Given the description of an element on the screen output the (x, y) to click on. 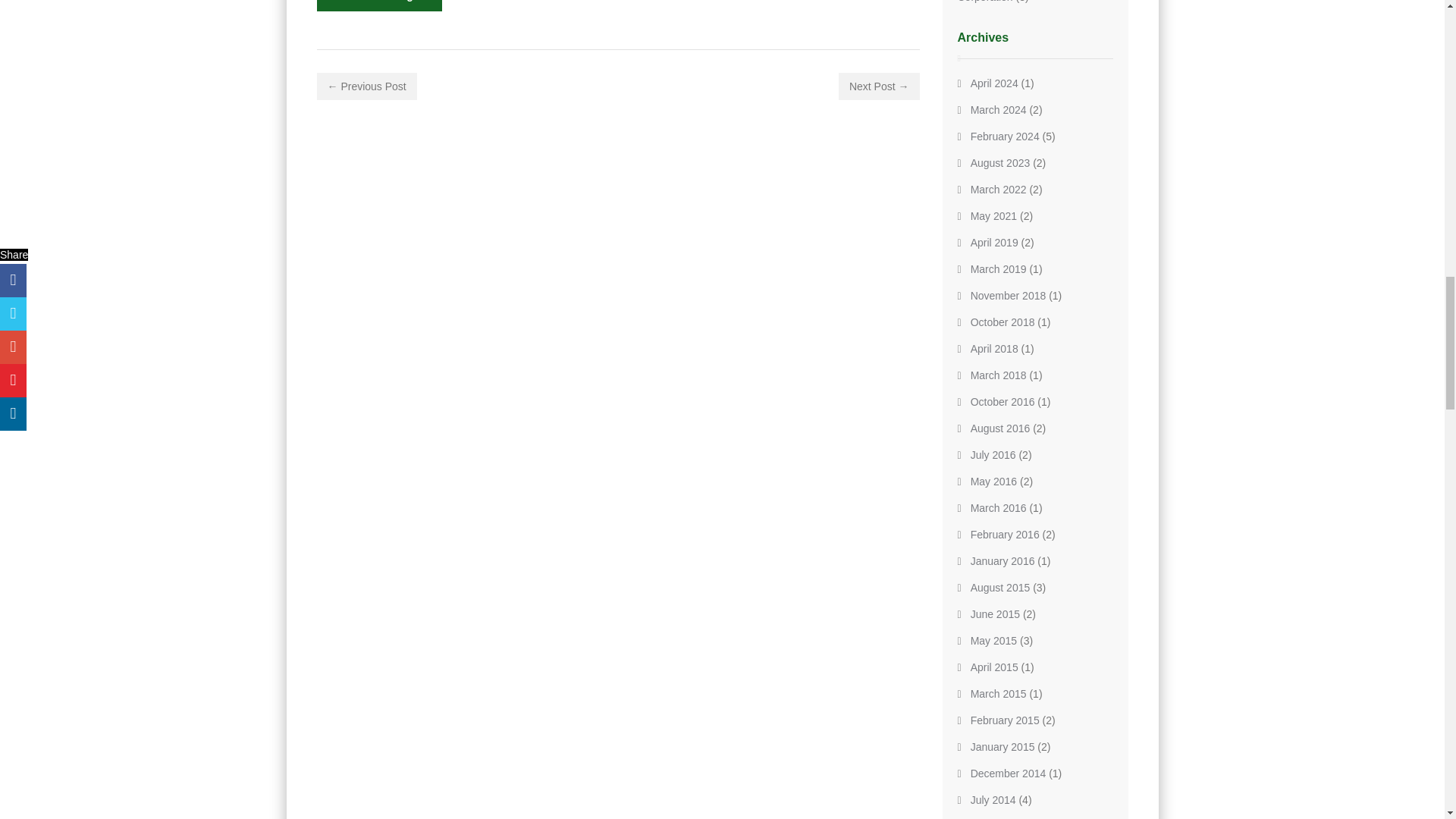
Post a Message (379, 5)
Post a Message (379, 5)
